Given the description of an element on the screen output the (x, y) to click on. 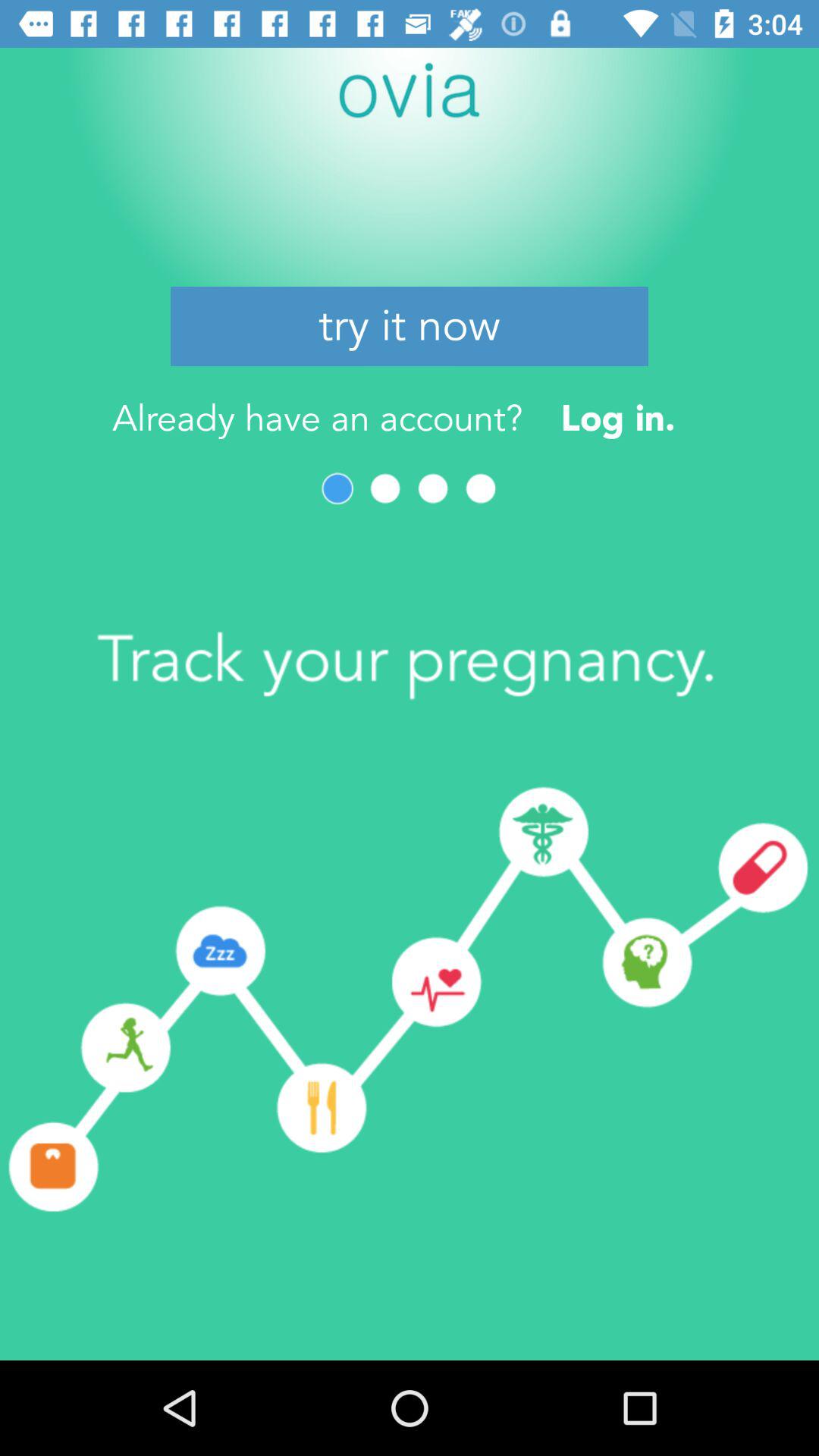
click the item above log in. icon (409, 326)
